Given the description of an element on the screen output the (x, y) to click on. 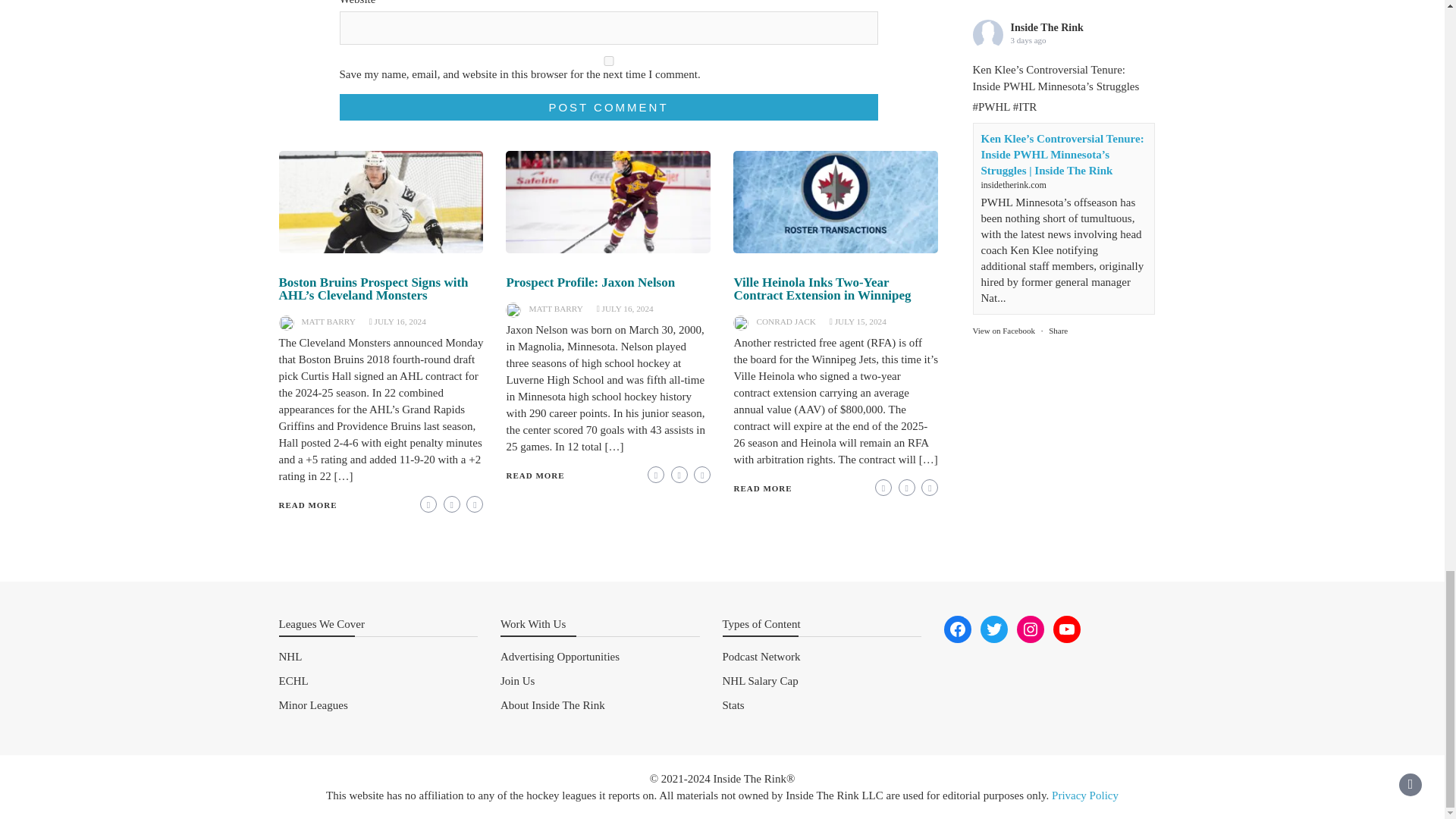
Post Comment (608, 107)
Share (1057, 298)
yes (608, 61)
View on Facebook (1002, 298)
Likebox Iframe (1063, 396)
